Given the description of an element on the screen output the (x, y) to click on. 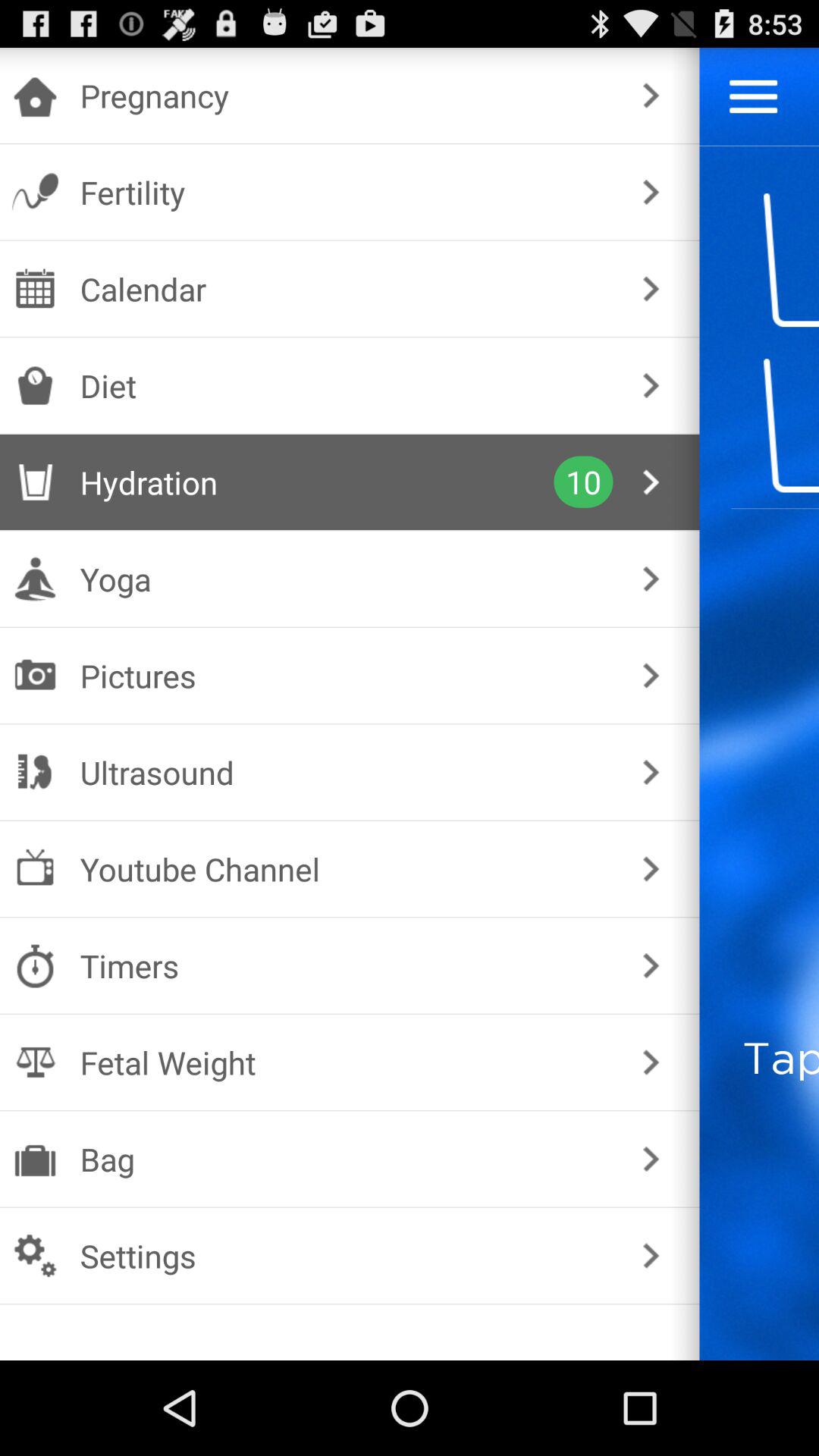
open the item below bag icon (346, 1255)
